Given the description of an element on the screen output the (x, y) to click on. 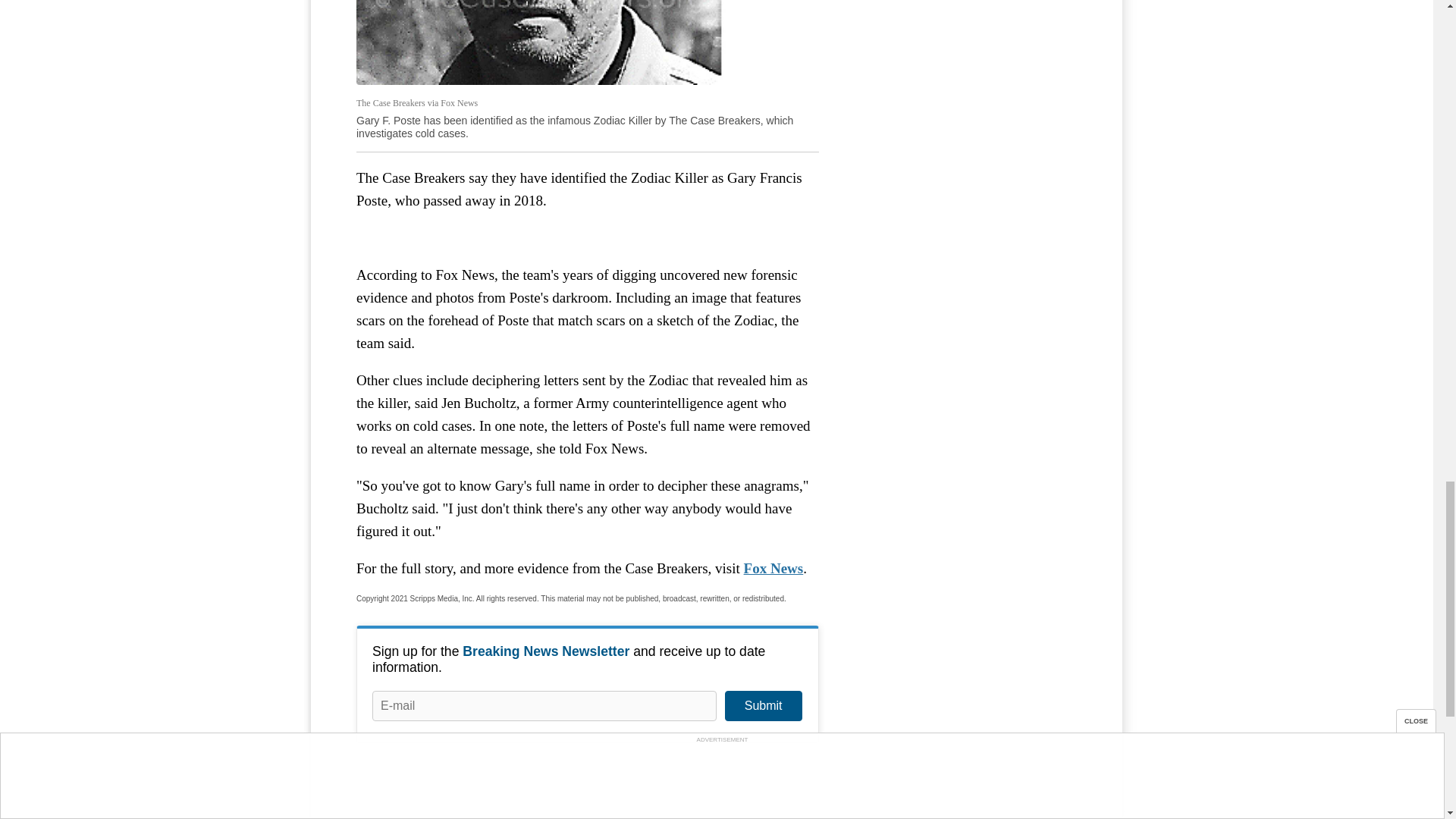
Submit (763, 706)
